Given the description of an element on the screen output the (x, y) to click on. 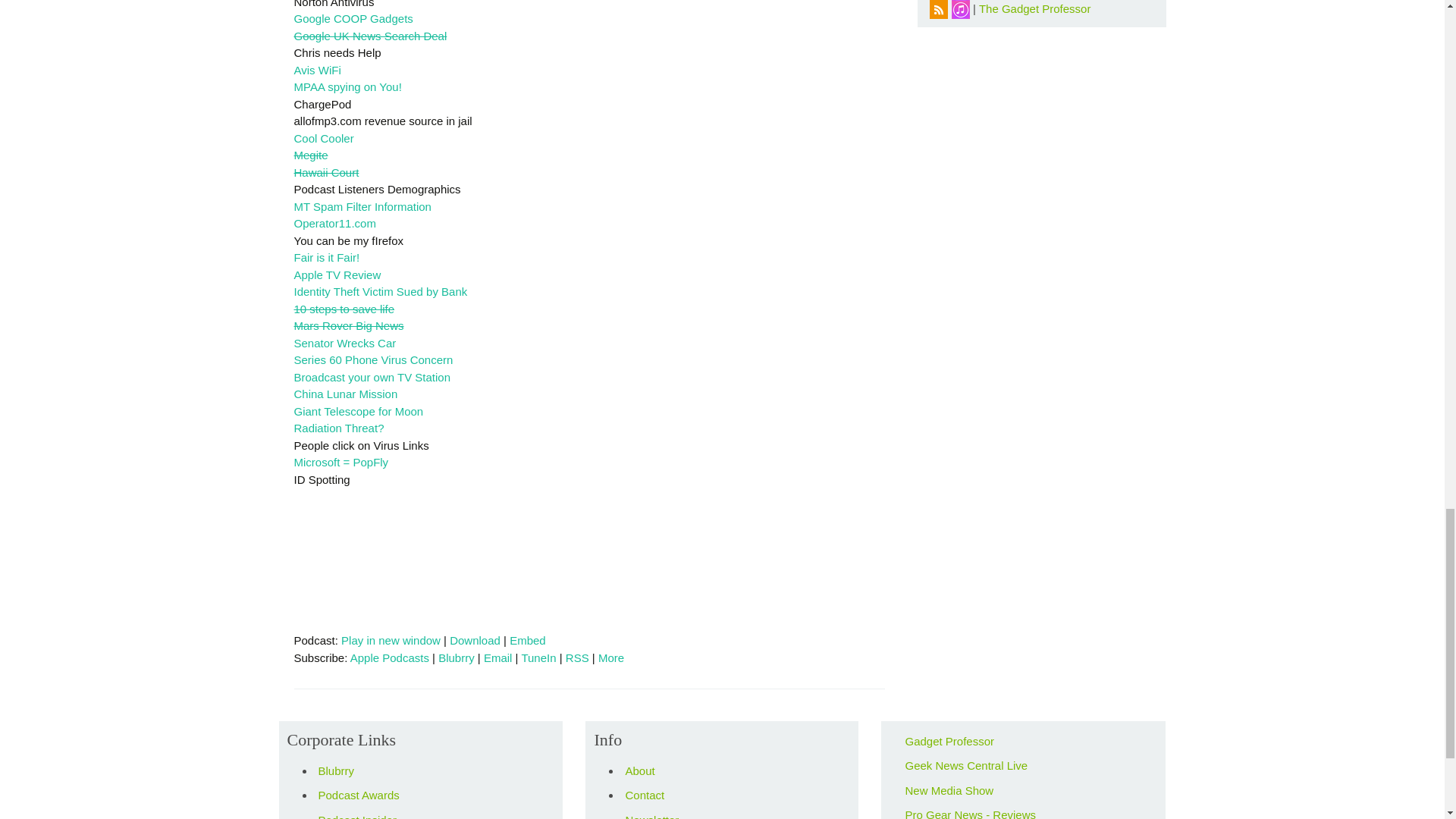
Blubrry Podcast Player (589, 564)
Play in new window (390, 640)
Download (474, 640)
